Given the description of an element on the screen output the (x, y) to click on. 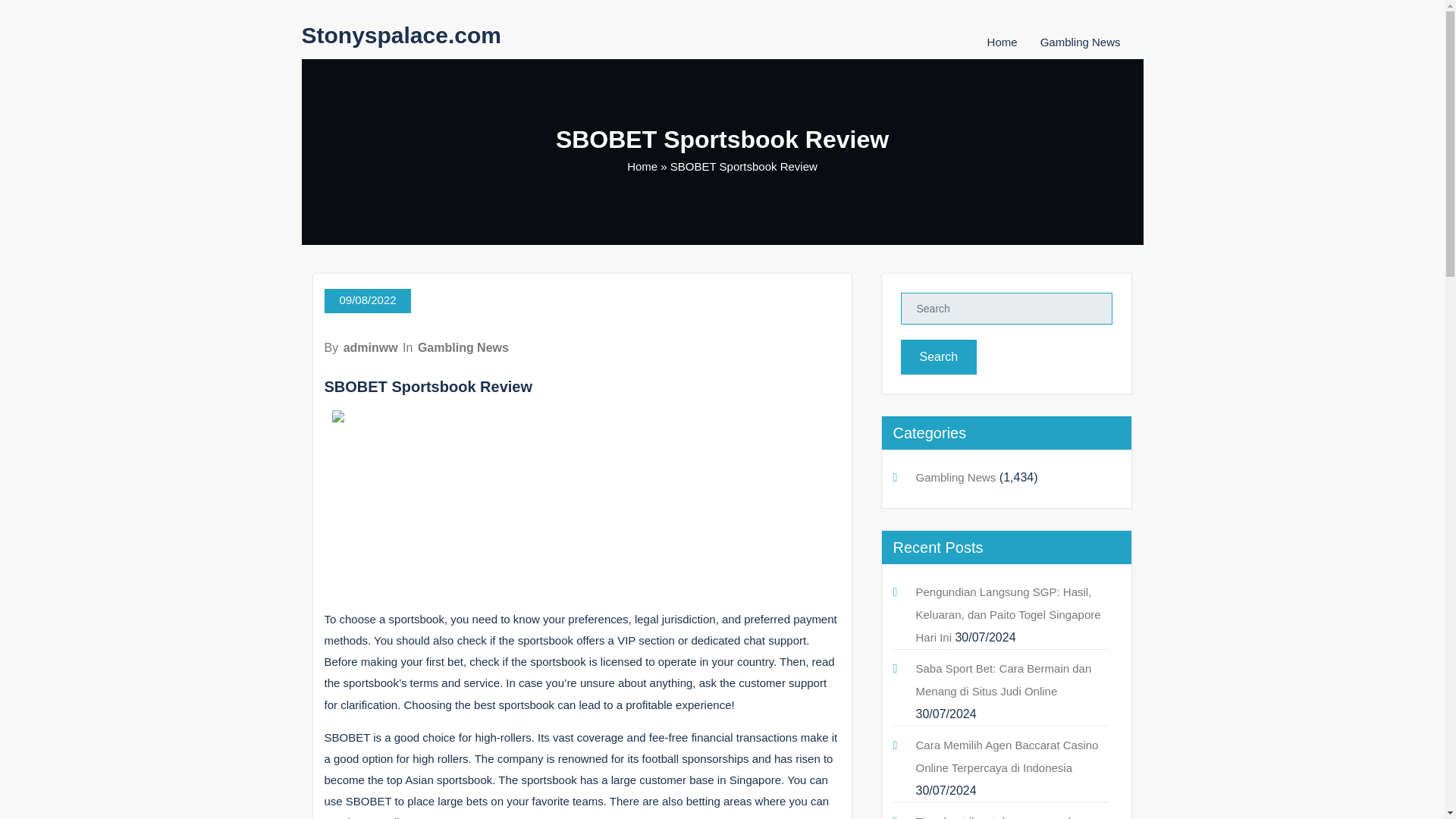
Tips dan trik untuk memenangkan taruhan dengan Data HK (1000, 816)
Search (938, 356)
Gambling News (463, 347)
Gambling News (1081, 41)
Saba Sport Bet: Cara Bermain dan Menang di Situs Judi Online (1003, 679)
adminww (370, 347)
Stonyspalace.com (400, 34)
Home (1002, 41)
Gambling News (955, 477)
Home (642, 165)
